Given the description of an element on the screen output the (x, y) to click on. 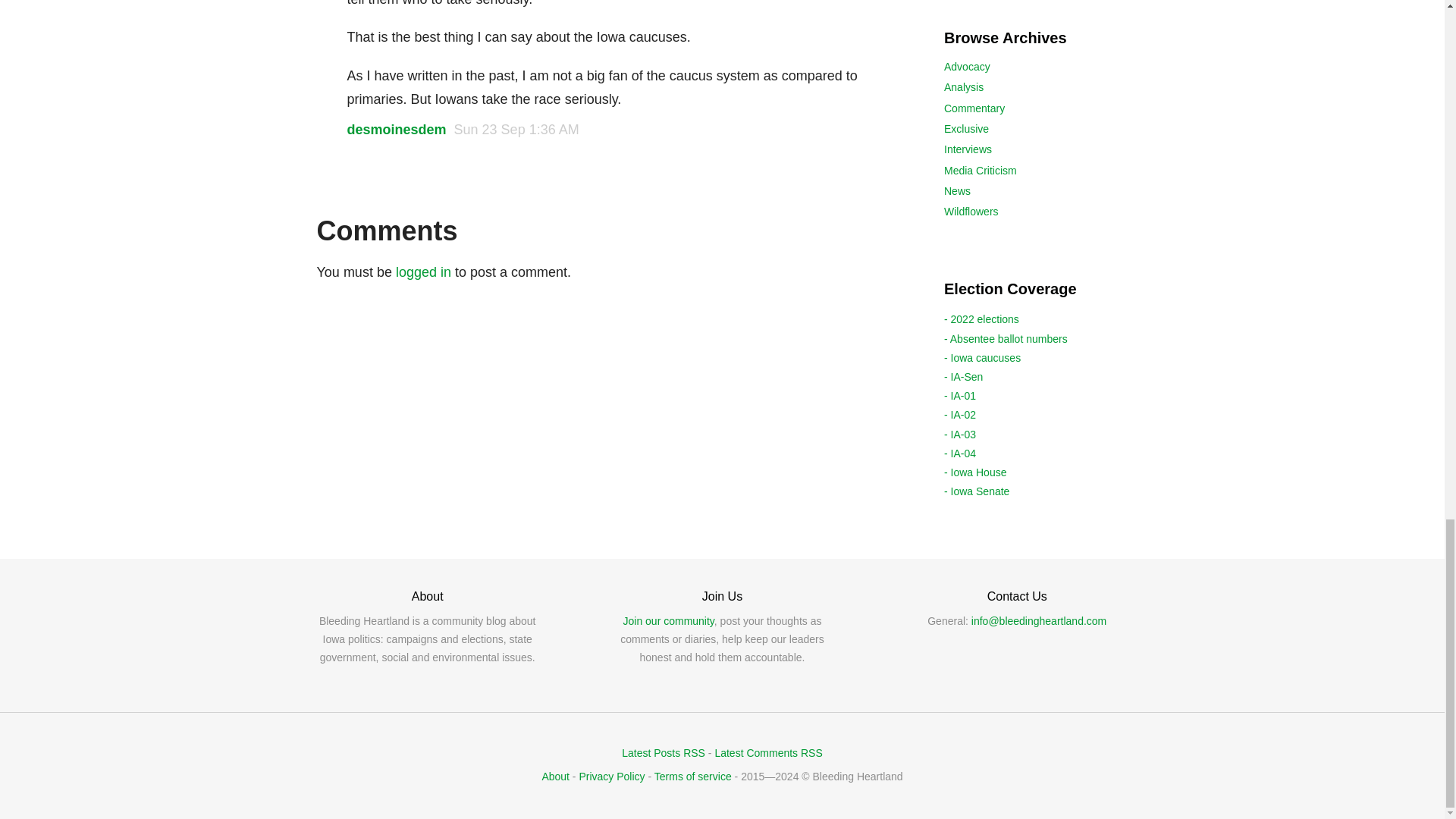
logged in (423, 272)
desmoinesdem (396, 129)
Comment Permalink (516, 129)
Sun 23 Sep 1:36 AM (516, 129)
